Given the description of an element on the screen output the (x, y) to click on. 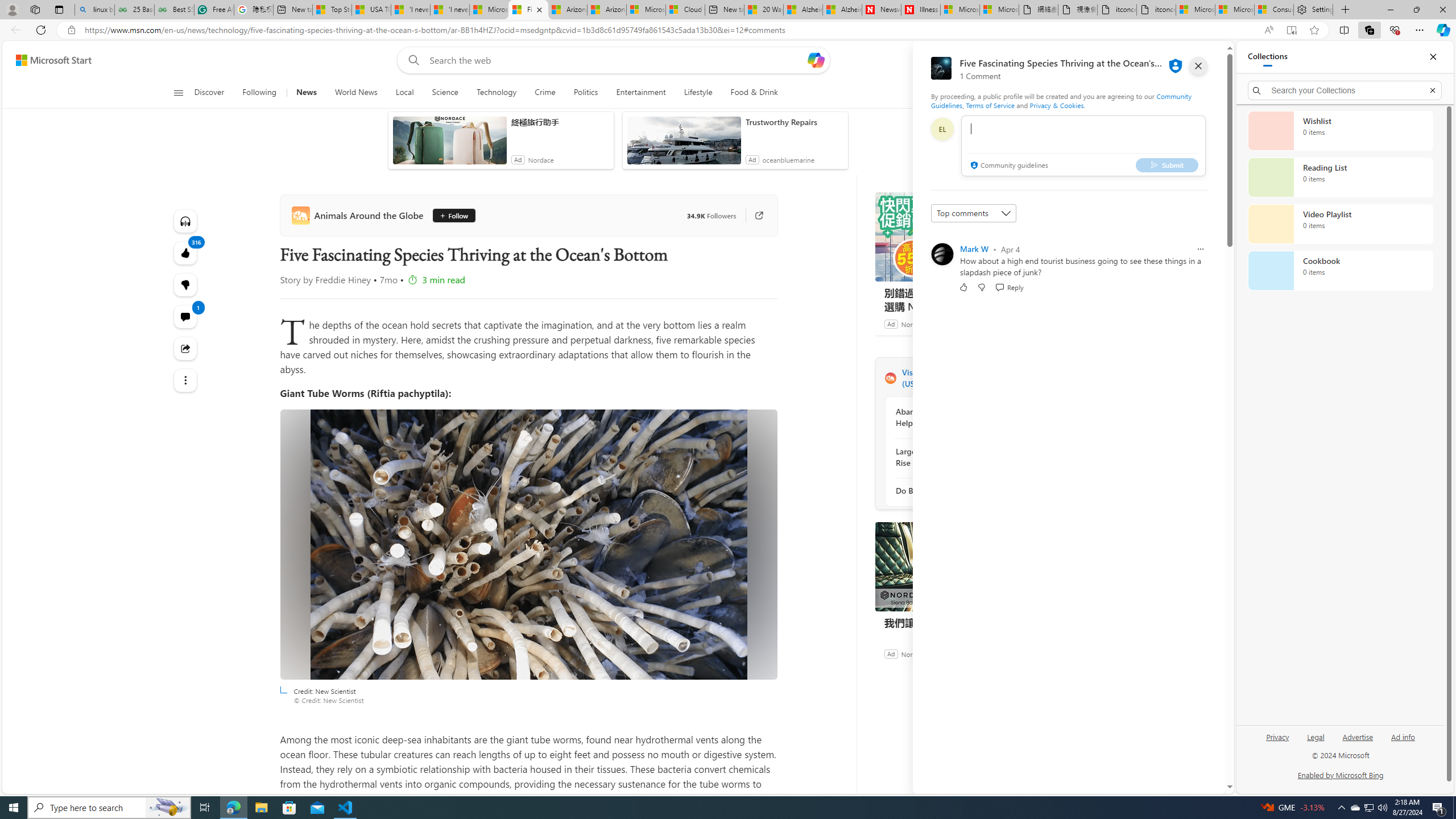
Visit Animals Around The Globe (US) website (1031, 377)
Lifestyle (698, 92)
Crime (544, 92)
Submit (1166, 164)
anim-content (683, 144)
Local (404, 92)
Enter your search term (617, 59)
Do Bald Eagles Mate For Life? (957, 490)
Technology (496, 92)
